Given the description of an element on the screen output the (x, y) to click on. 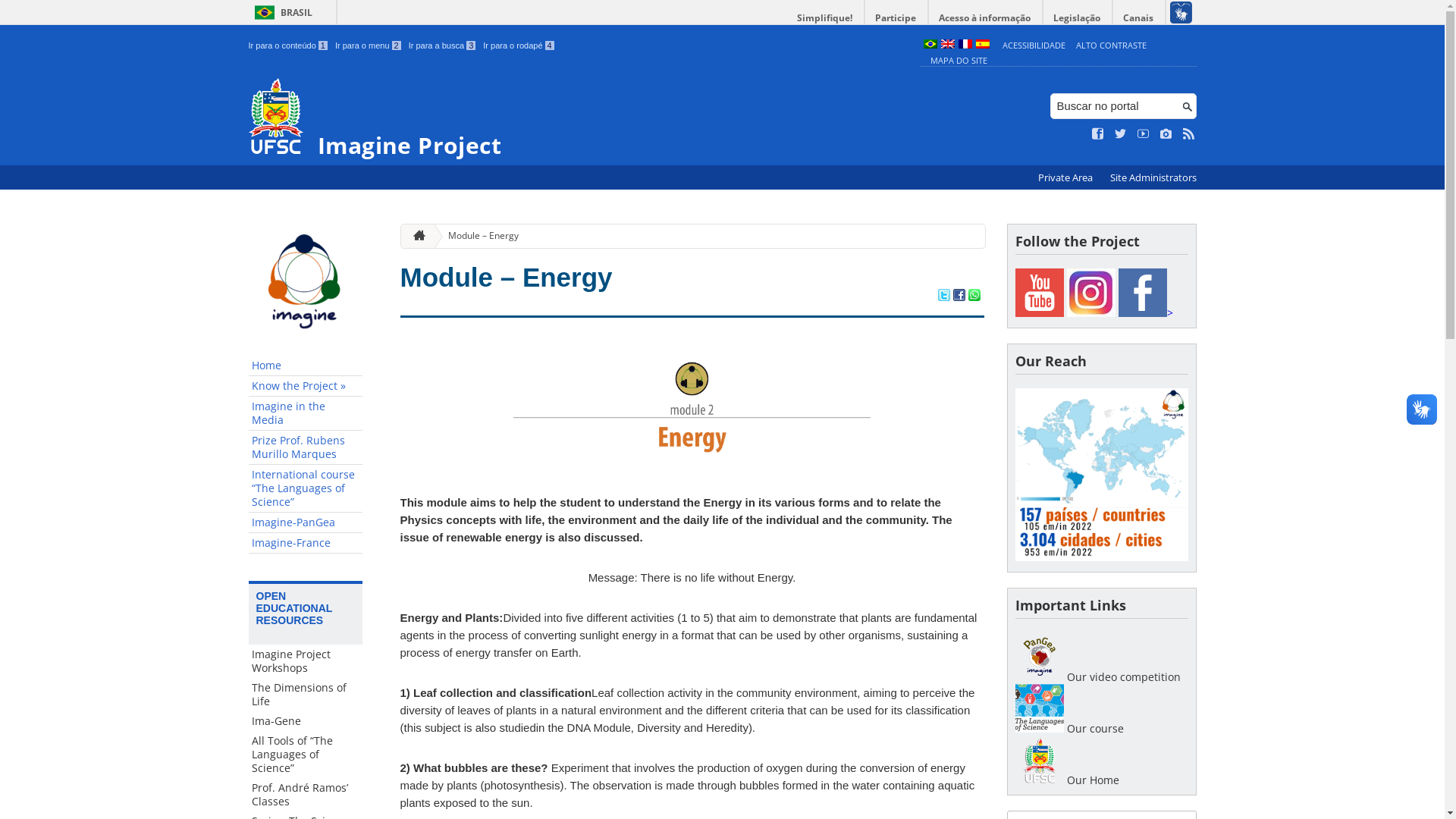
Simplifique! Element type: text (825, 18)
ACESSIBILIDADE Element type: text (1033, 44)
Our Home Element type: hover (1038, 779)
> Element type: text (1144, 312)
Our Home Element type: hover (1038, 759)
Siga no Twitter Element type: hover (1120, 134)
BRASIL Element type: text (280, 12)
Our video competition Element type: hover (1038, 656)
Our course Element type: hover (1038, 708)
Imagine Project Element type: text (580, 117)
Youtube Element type: hover (1038, 292)
MAPA DO SITE Element type: text (957, 59)
Our course Element type: hover (1038, 728)
Instagram Element type: hover (1090, 292)
Canais Element type: text (1138, 18)
Compartilhar no Facebook Element type: hover (958, 296)
Private Area Element type: text (1065, 177)
Curta no Facebook Element type: hover (1098, 134)
Ir para o menu 2 Element type: text (368, 45)
Ima-Gene Element type: text (305, 721)
English (en) Element type: hover (946, 44)
Imagine-PanGea Element type: text (305, 522)
Prize Prof. Rubens Murillo Marques Element type: text (305, 447)
Participe Element type: text (895, 18)
Our video competition Element type: hover (1038, 676)
The Dimensions of Life Element type: text (305, 694)
Veja no Instagram Element type: hover (1166, 134)
Ir para a busca 3 Element type: text (442, 45)
Facebook Element type: hover (1141, 292)
Home Element type: text (305, 365)
Compartilhar no WhatsApp Element type: hover (973, 296)
Imagine Project Workshops Element type: text (305, 660)
Site Administrators Element type: text (1153, 177)
Imagine-France Element type: text (305, 543)
Compartilhar no Twitter Element type: hover (943, 296)
ALTO CONTRASTE Element type: text (1111, 44)
Imagine in the Media Element type: text (305, 413)
